Given the description of an element on the screen output the (x, y) to click on. 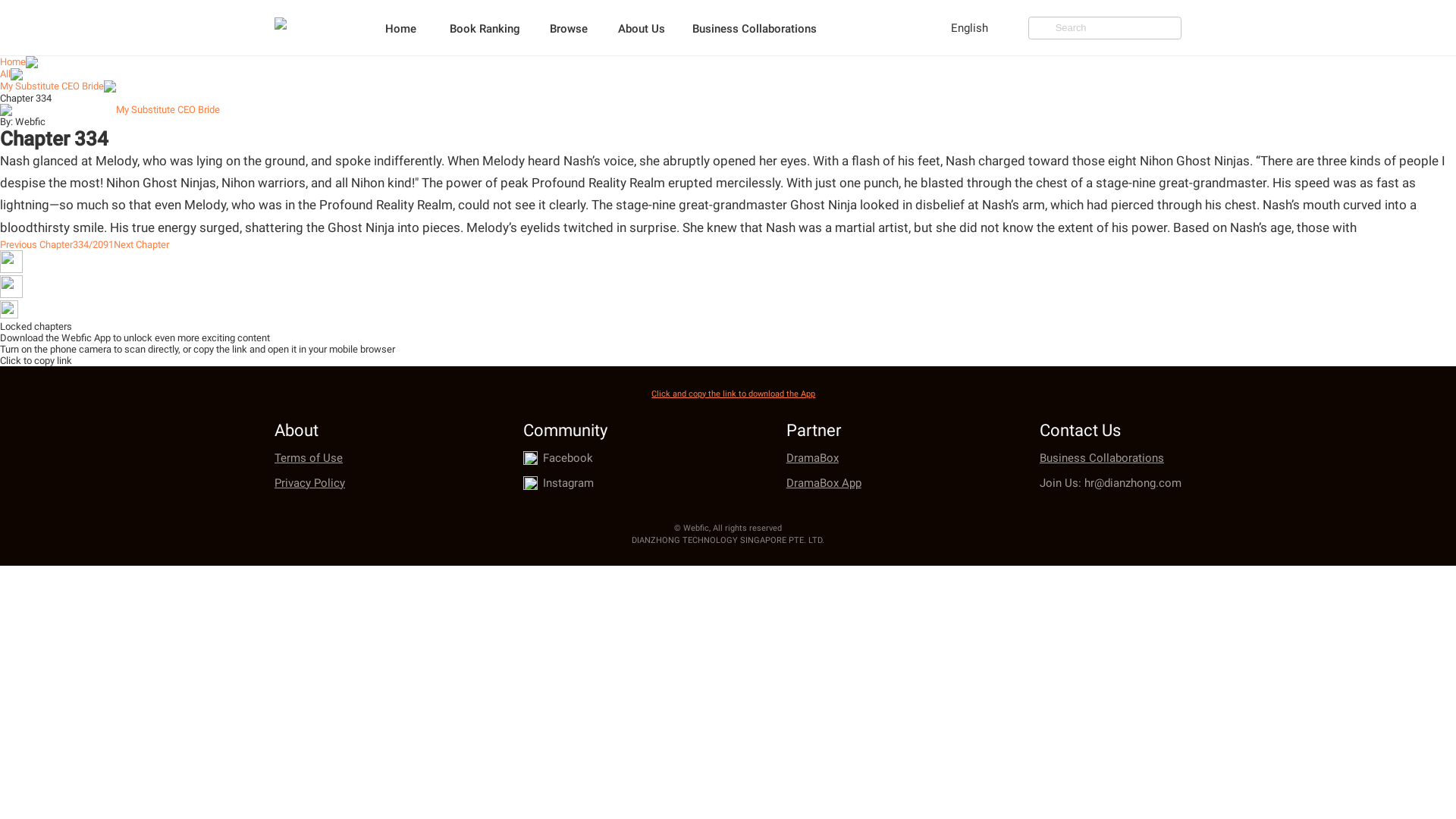
All (5, 73)
Facebook (567, 458)
Browse (582, 27)
Home (414, 27)
Previous Chapter (36, 244)
Terms of Use (310, 458)
Privacy Policy (310, 482)
Book Ranking (498, 27)
Business Collaborations (1109, 458)
My Substitute CEO Bride (167, 109)
Instagram (568, 482)
About Us (655, 27)
Next Chapter (140, 244)
DramaBox App (823, 482)
My Substitute CEO Bride (51, 85)
